Given the description of an element on the screen output the (x, y) to click on. 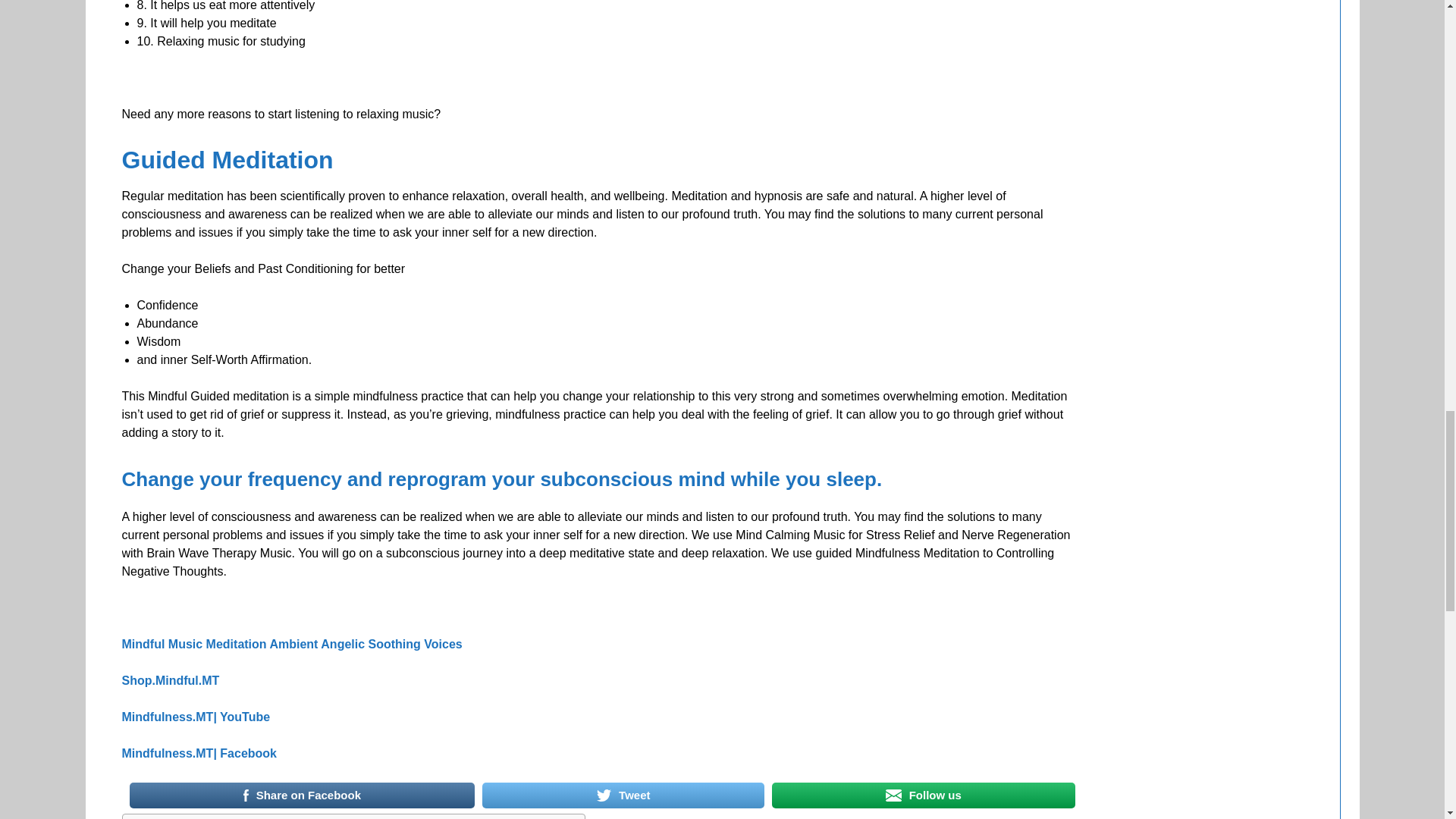
Follow us (923, 795)
Tweet (621, 795)
Mindful Music Meditation Ambient Angelic Soothing Voices (290, 644)
Shop.Mindful.MT (169, 680)
Share on Facebook (301, 795)
